Given the description of an element on the screen output the (x, y) to click on. 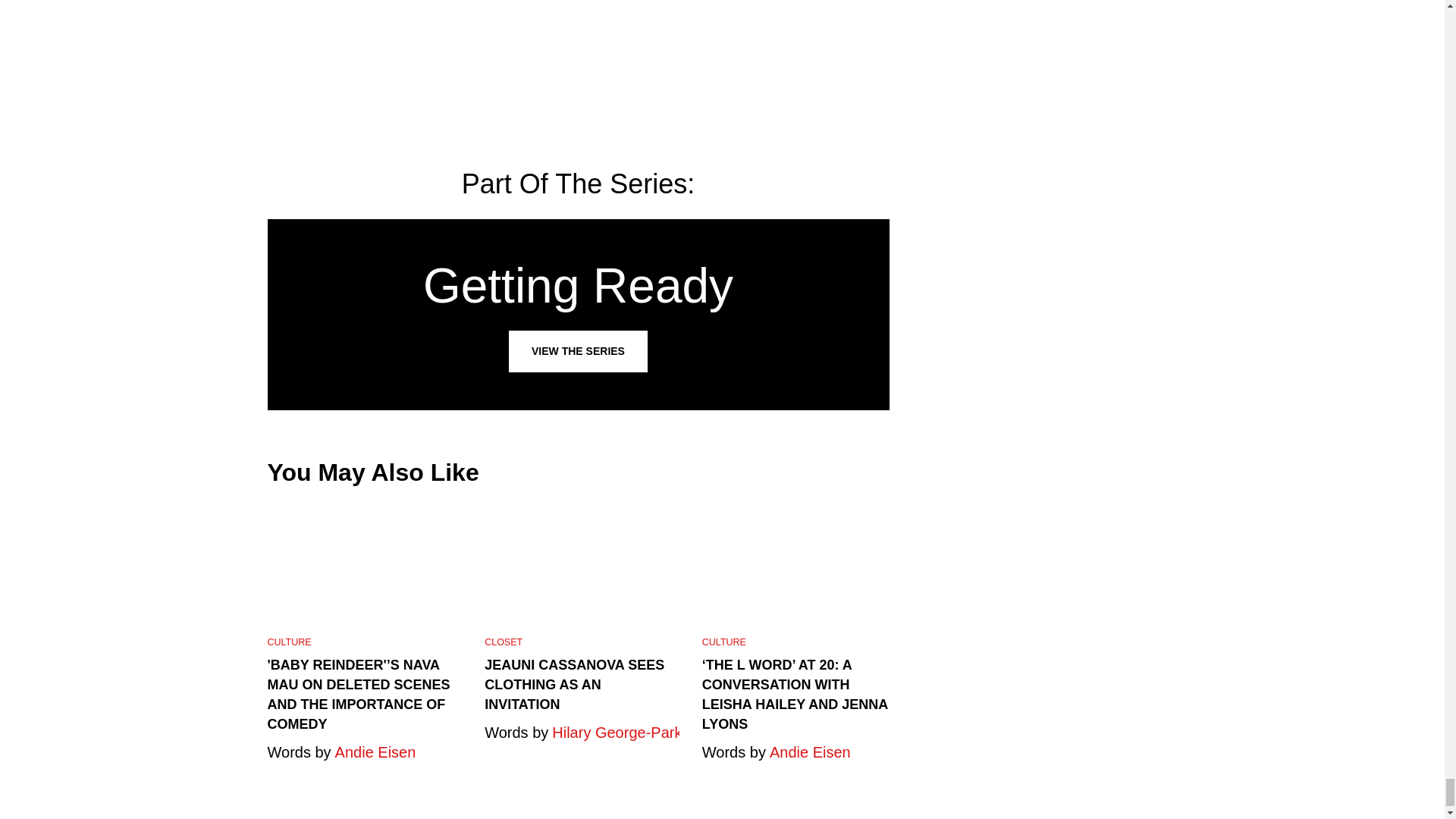
Getting Ready (577, 314)
CULTURE (577, 314)
